Given the description of an element on the screen output the (x, y) to click on. 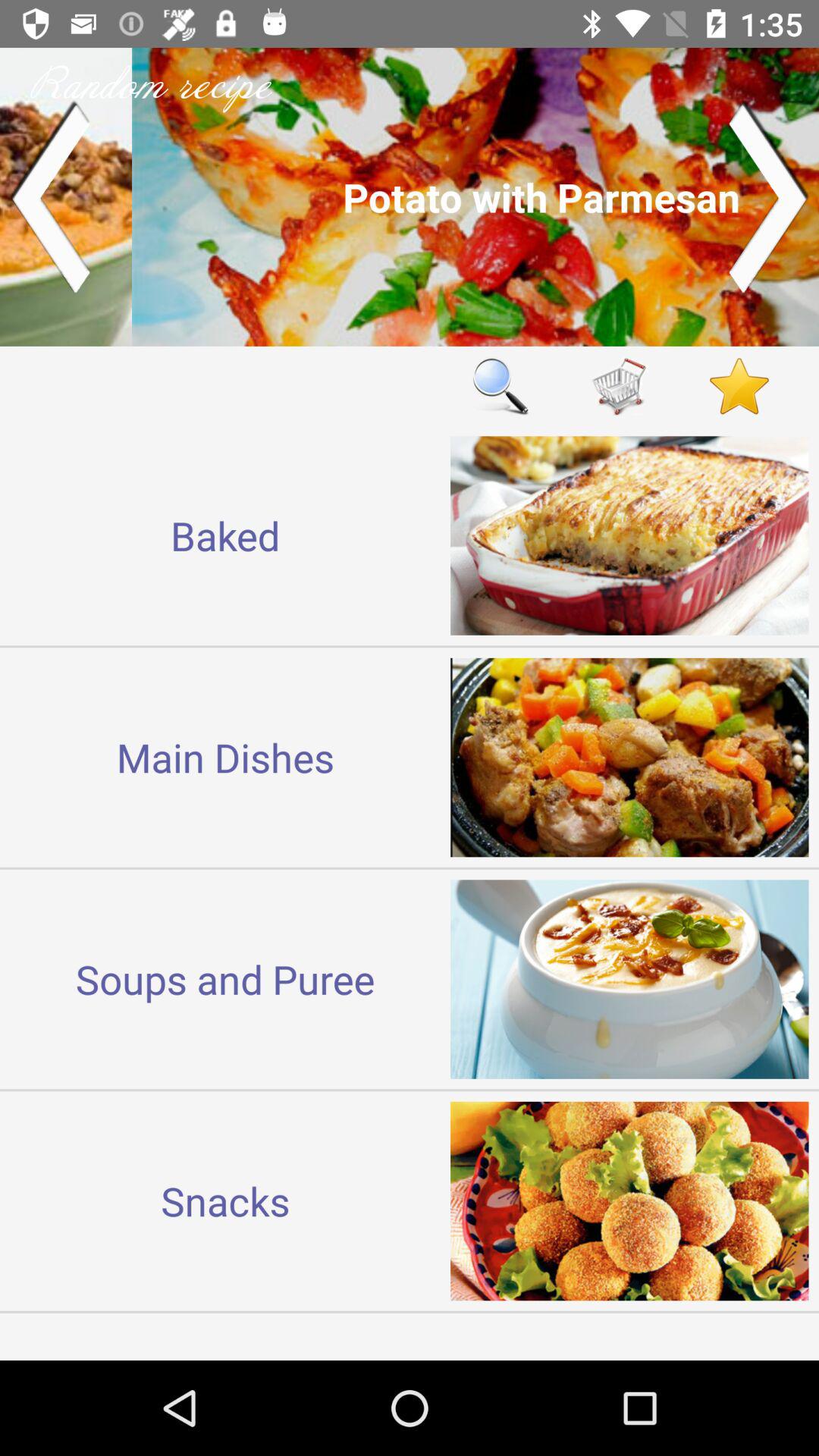
potato with parmesan (409, 196)
